Given the description of an element on the screen output the (x, y) to click on. 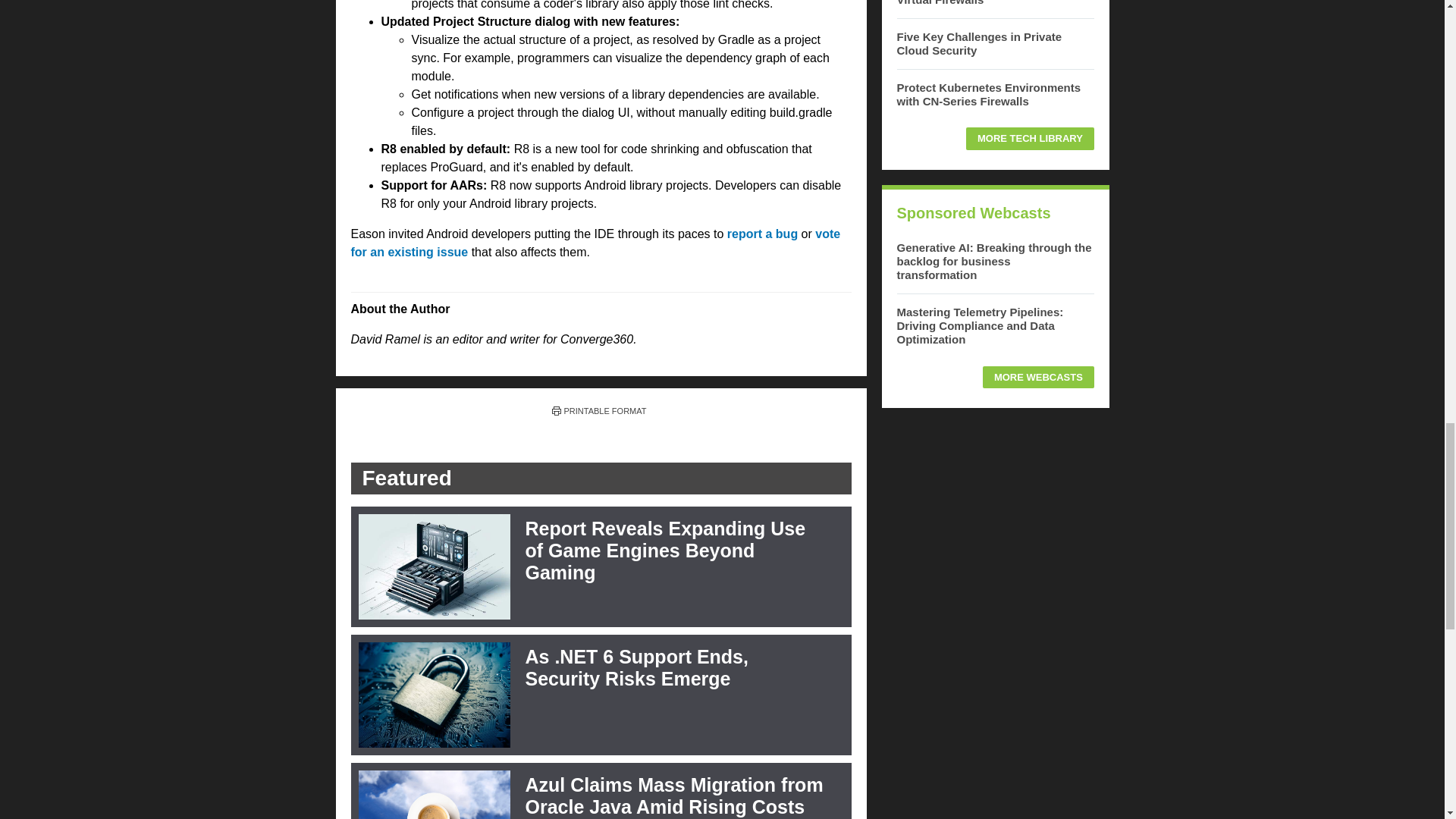
PRINTABLE FORMAT (598, 410)
vote for an existing issue (595, 242)
report a bug (761, 233)
